Given the description of an element on the screen output the (x, y) to click on. 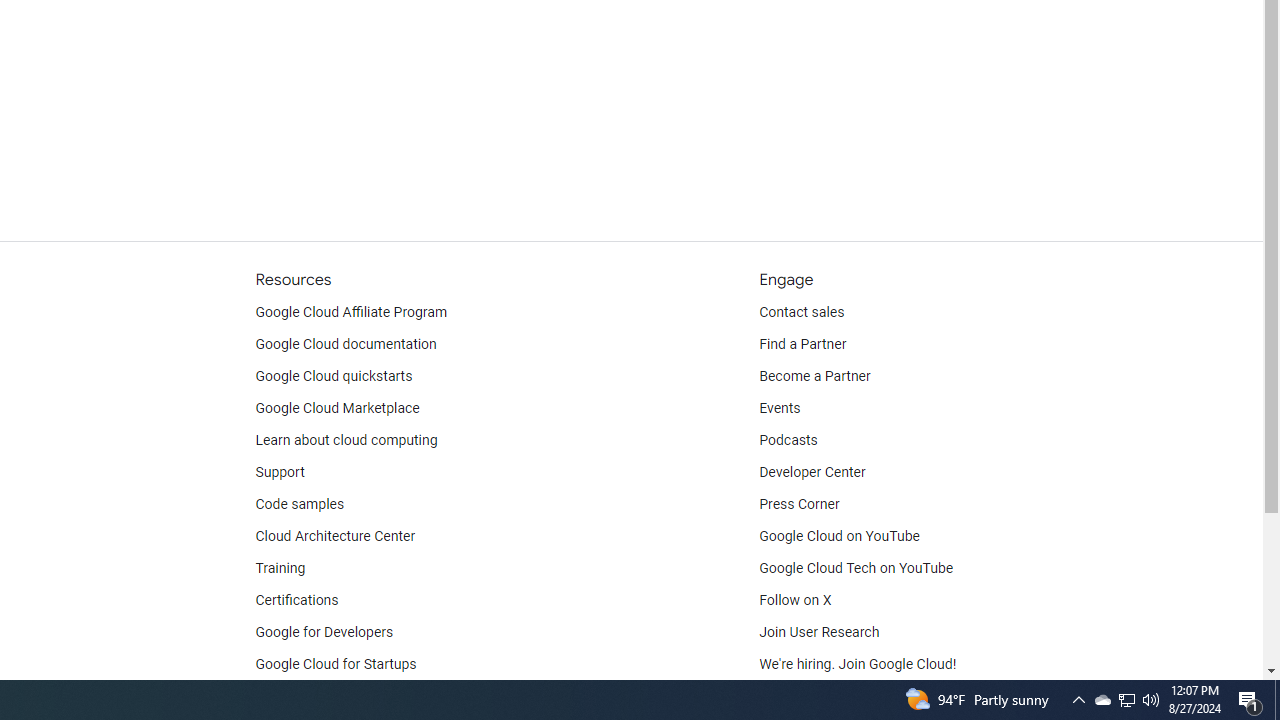
Google Cloud for Startups (335, 664)
Events (780, 408)
Google Cloud documentation (345, 344)
Follow on X (795, 600)
Press Corner (799, 504)
Podcasts (788, 440)
Find a Partner (803, 344)
Google Cloud on YouTube (839, 536)
Learn about cloud computing (345, 440)
Code samples (299, 504)
Support (279, 472)
Google Cloud Tech on YouTube (856, 568)
Training (279, 568)
We're hiring. Join Google Cloud! (858, 664)
